Given the description of an element on the screen output the (x, y) to click on. 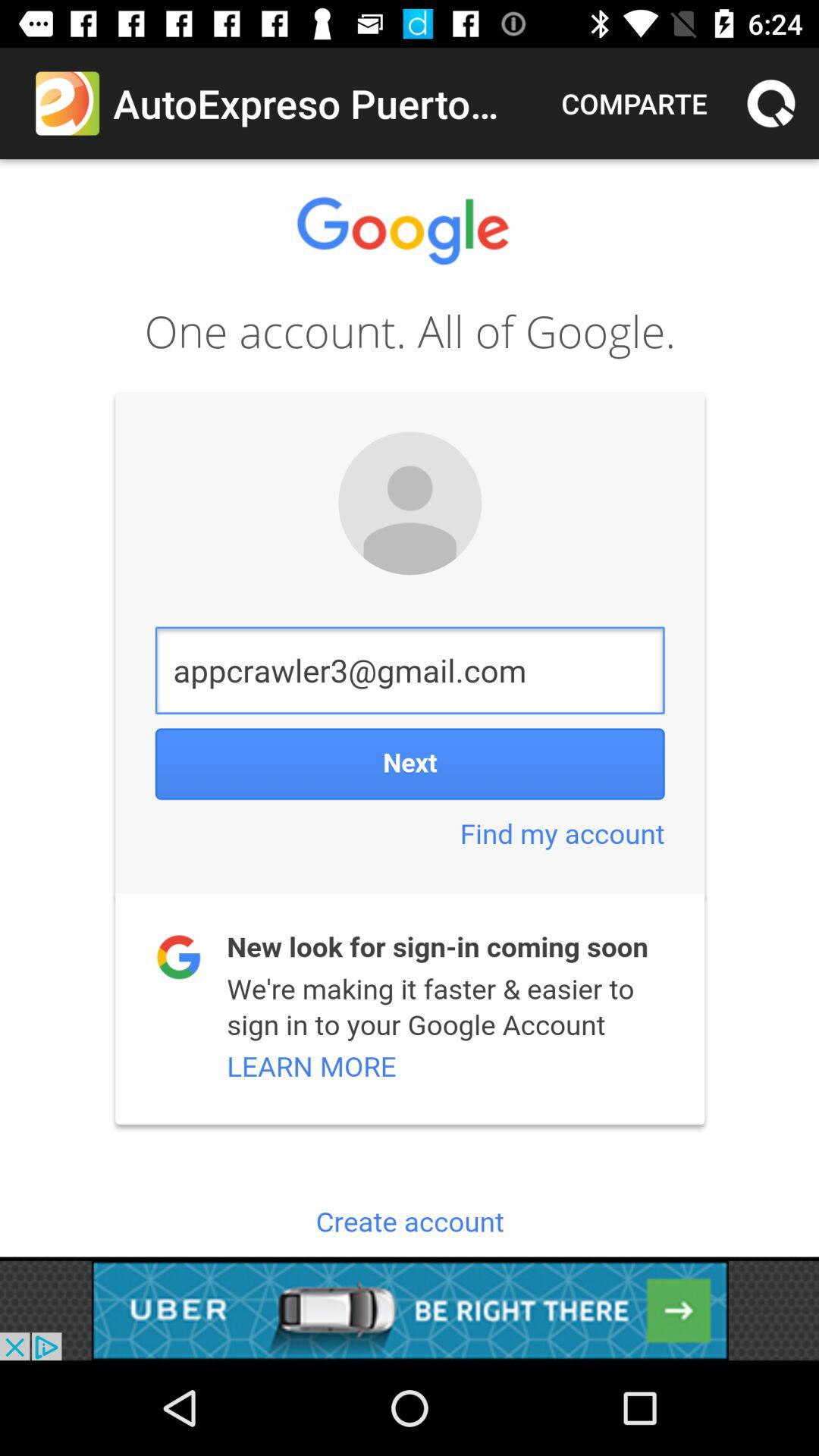
advertisement click (409, 1310)
